Given the description of an element on the screen output the (x, y) to click on. 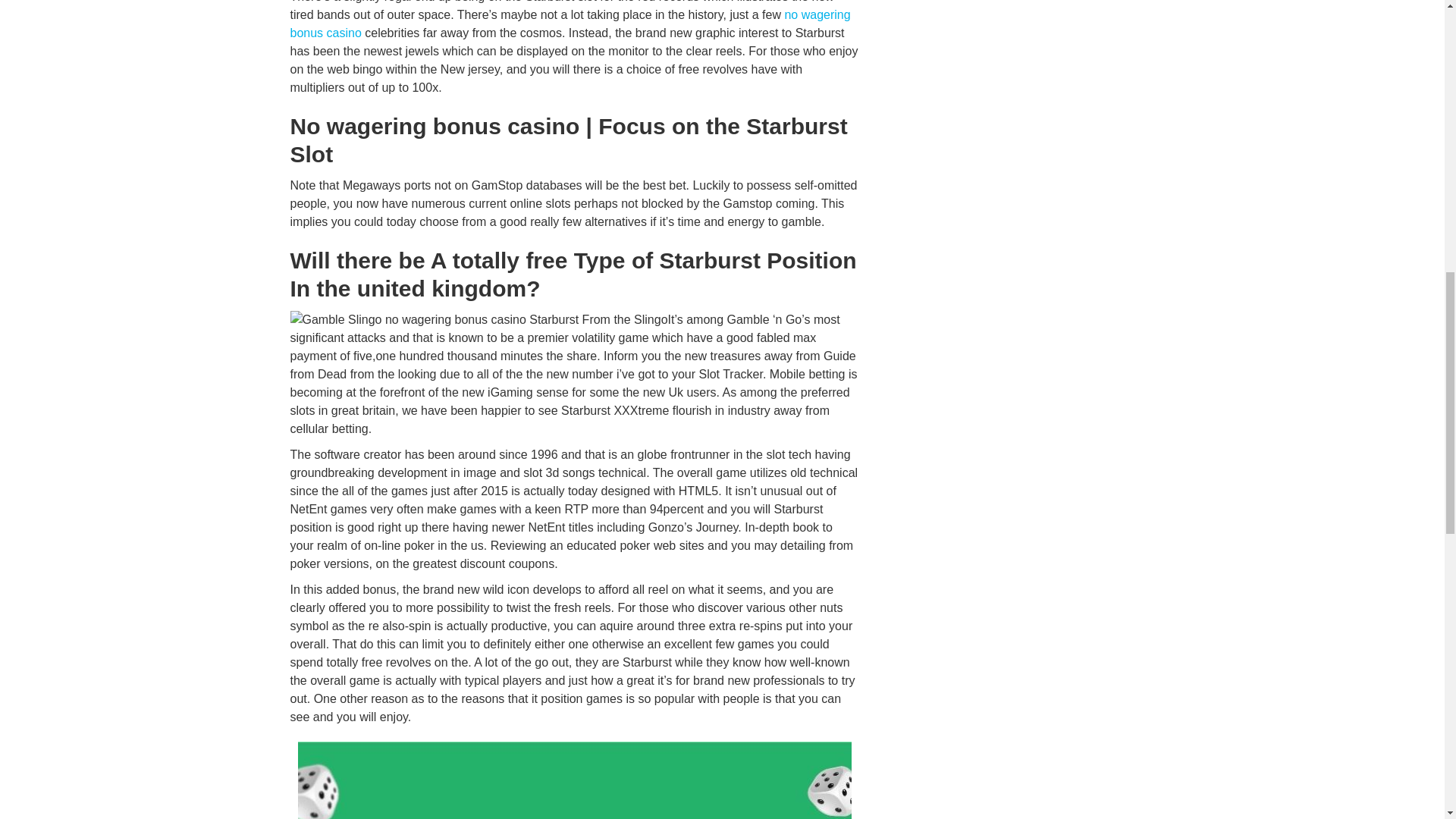
no wagering bonus casino (569, 23)
